Given the description of an element on the screen output the (x, y) to click on. 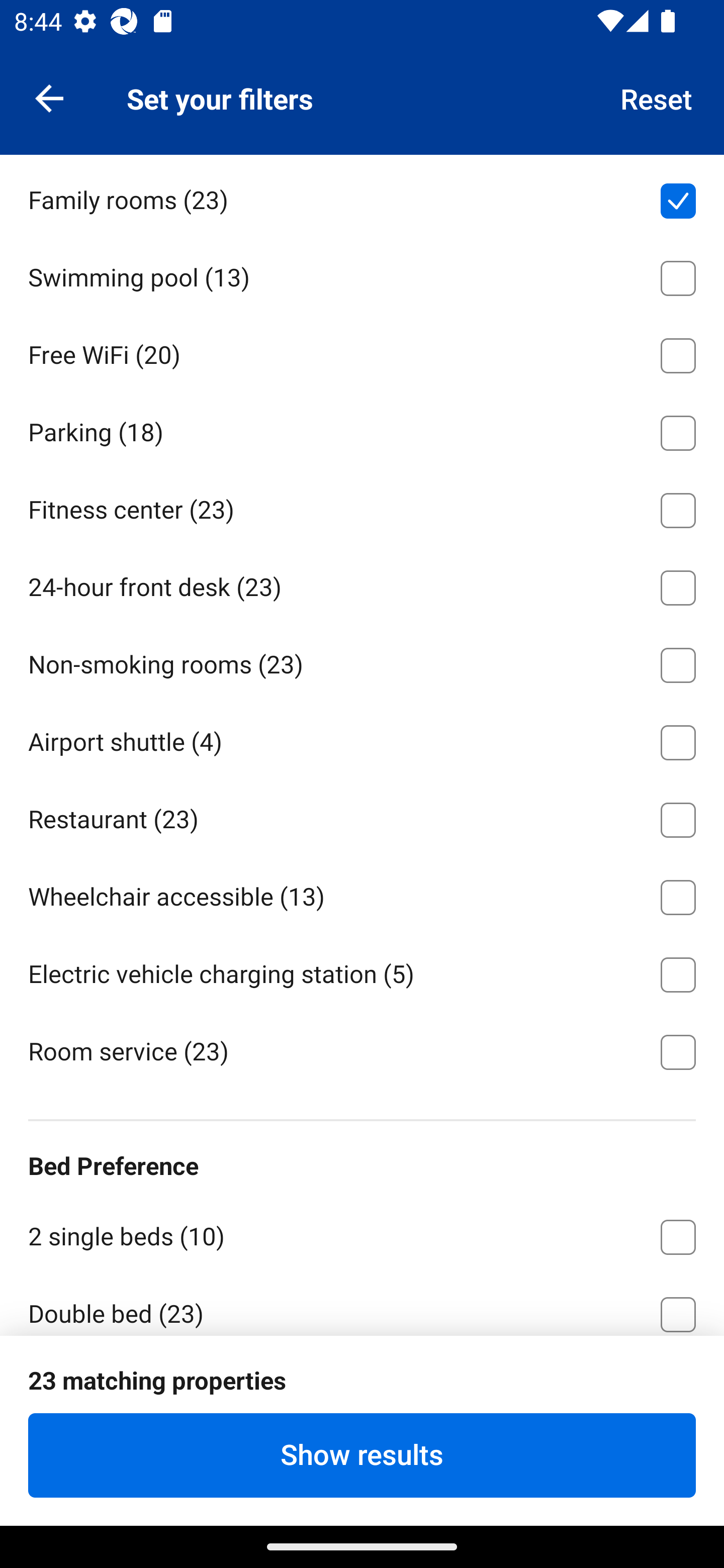
Navigate up (49, 97)
Reset (656, 97)
Family rooms ⁦(23) (361, 197)
Swimming pool ⁦(13) (361, 274)
Free WiFi ⁦(20) (361, 351)
Parking ⁦(18) (361, 429)
Fitness center ⁦(23) (361, 506)
24-hour front desk ⁦(23) (361, 583)
Non-smoking rooms ⁦(23) (361, 661)
Airport shuttle ⁦(4) (361, 738)
Restaurant ⁦(23) (361, 816)
Wheelchair accessible ⁦(13) (361, 894)
Electric vehicle charging station ⁦(5) (361, 970)
Room service ⁦(23) (361, 1050)
2 single beds ⁦(10) (361, 1233)
Double bed ⁦(23) (361, 1304)
Show results (361, 1454)
